Given the description of an element on the screen output the (x, y) to click on. 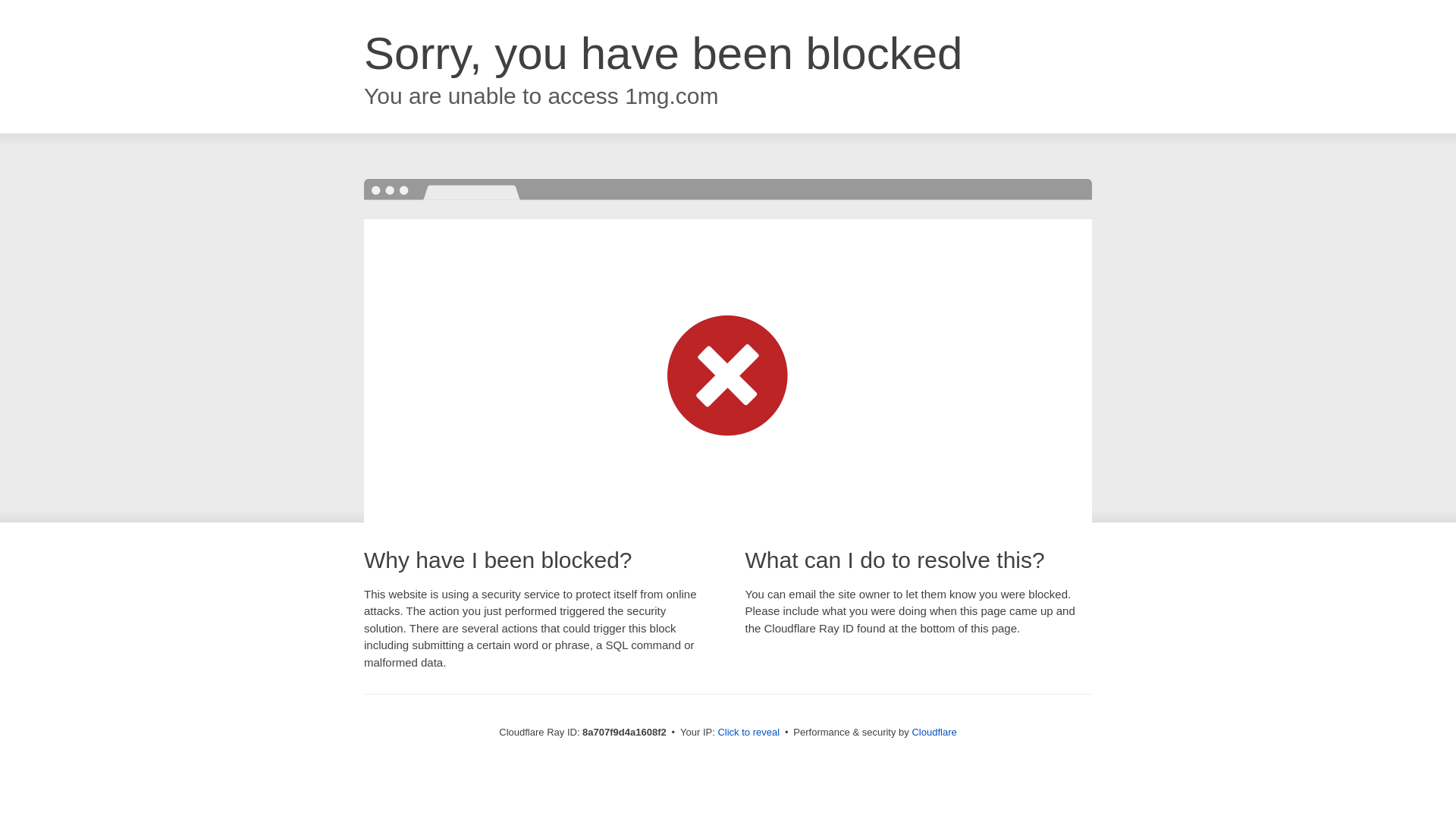
Cloudflare (933, 731)
Click to reveal (747, 732)
